Given the description of an element on the screen output the (x, y) to click on. 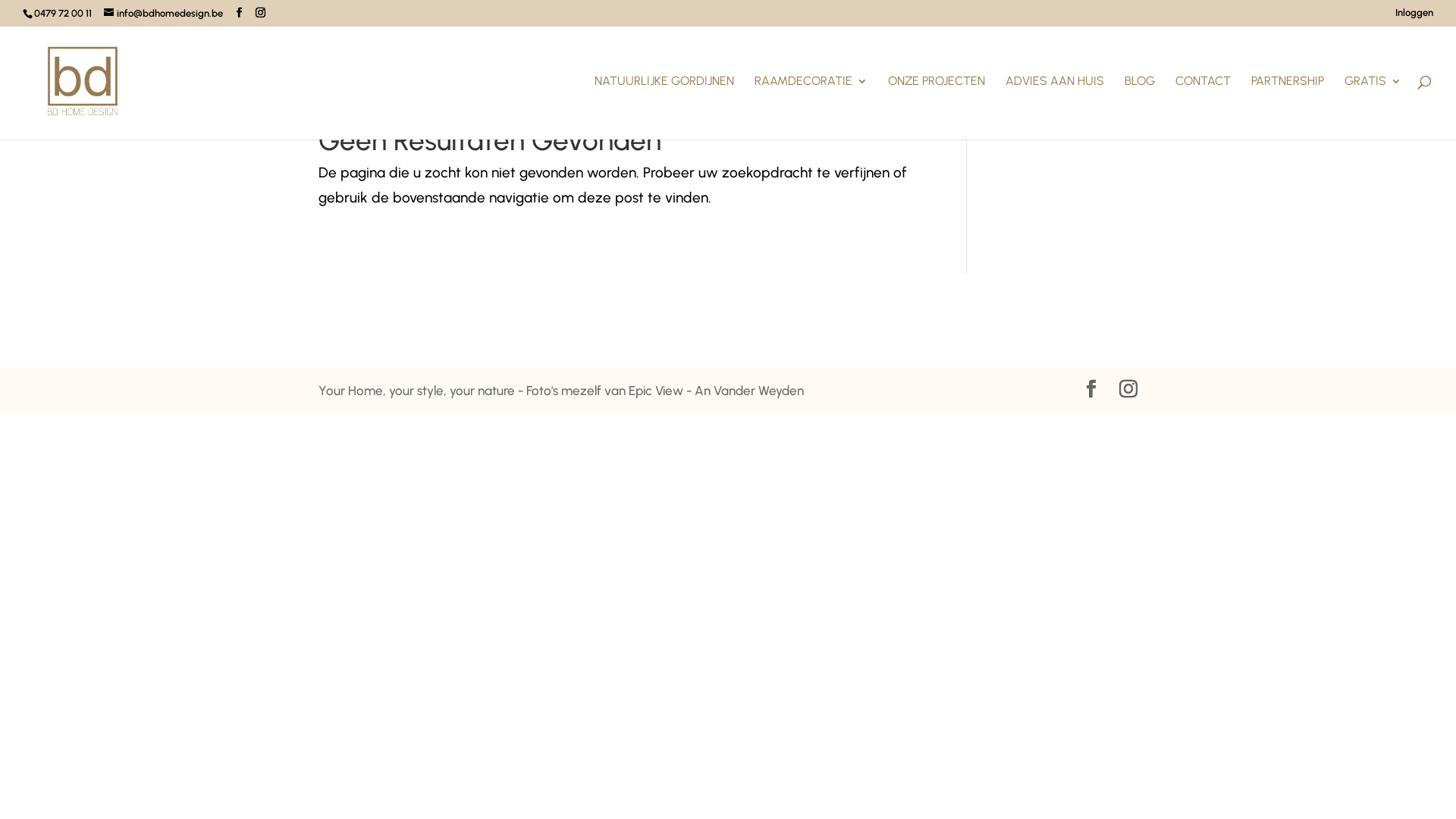
PARTNERSHIP Element type: text (1287, 107)
BLOG Element type: text (1139, 107)
GRATIS Element type: text (1372, 107)
ADVIES AAN HUIS Element type: text (1054, 107)
info@bdhomedesign.be Element type: text (162, 12)
RAAMDECORATIE Element type: text (810, 107)
CONTACT Element type: text (1202, 107)
Inloggen Element type: text (1414, 16)
NATUURLIJKE GORDIJNEN Element type: text (664, 107)
ONZE PROJECTEN Element type: text (936, 107)
